Given the description of an element on the screen output the (x, y) to click on. 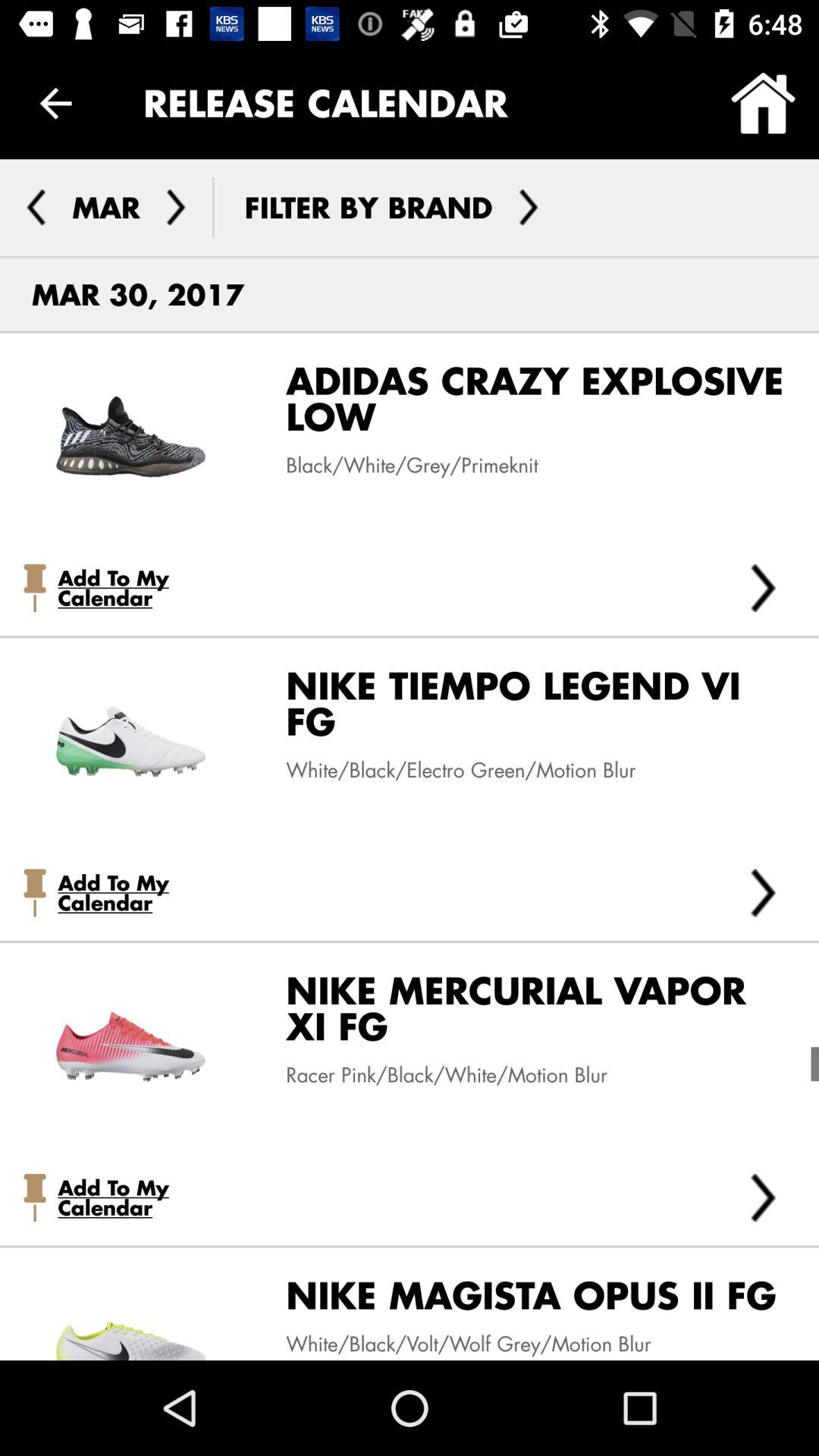
select date option (175, 207)
